Given the description of an element on the screen output the (x, y) to click on. 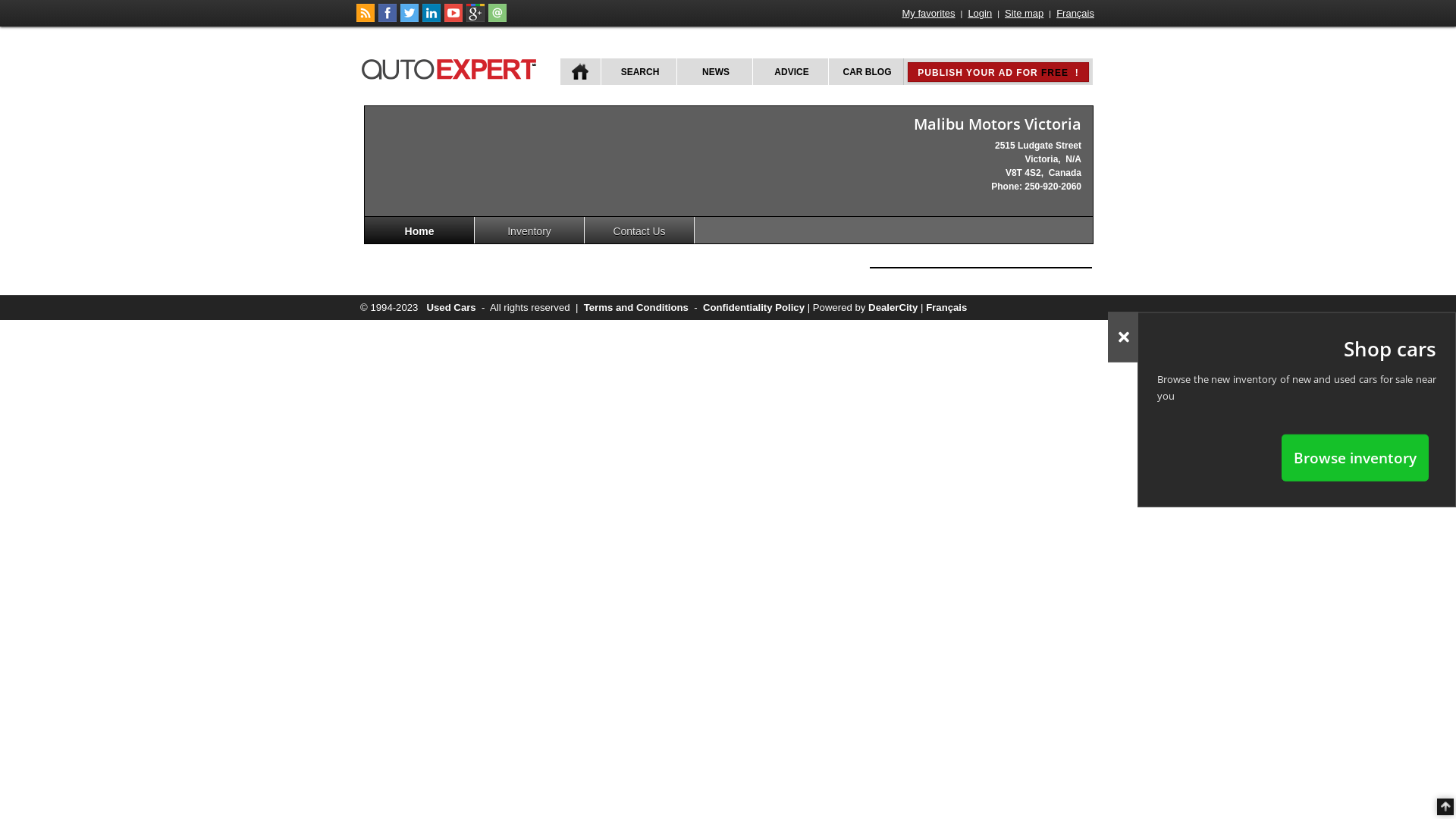
Contact Us Element type: text (639, 229)
Used Cars Element type: text (450, 307)
Inventory Element type: text (529, 229)
PUBLISH YOUR AD FOR FREE  ! Element type: text (997, 71)
ADVICE Element type: text (790, 71)
CAR BLOG Element type: text (865, 71)
Follow Publications Le Guide Inc. on LinkedIn Element type: hover (431, 18)
NEWS Element type: text (714, 71)
Contact autoExpert.ca Element type: hover (497, 18)
Browse inventory Element type: text (1354, 457)
Site map Element type: text (1023, 13)
Terms and Conditions Element type: text (635, 307)
Confidentiality Policy Element type: text (753, 307)
Login Element type: text (979, 13)
My favorites Element type: text (928, 13)
Follow autoExpert.ca on Twitter Element type: hover (409, 18)
Follow car news on autoExpert.ca Element type: hover (365, 18)
DealerCity Element type: text (892, 307)
autoExpert.ca Element type: text (451, 66)
Follow autoExpert.ca on Youtube Element type: hover (453, 18)
Home Element type: text (419, 229)
Follow autoExpert.ca on Google Plus Element type: hover (475, 18)
HOME Element type: text (580, 71)
Follow autoExpert.ca on Facebook Element type: hover (387, 18)
SEARCH Element type: text (638, 71)
